Given the description of an element on the screen output the (x, y) to click on. 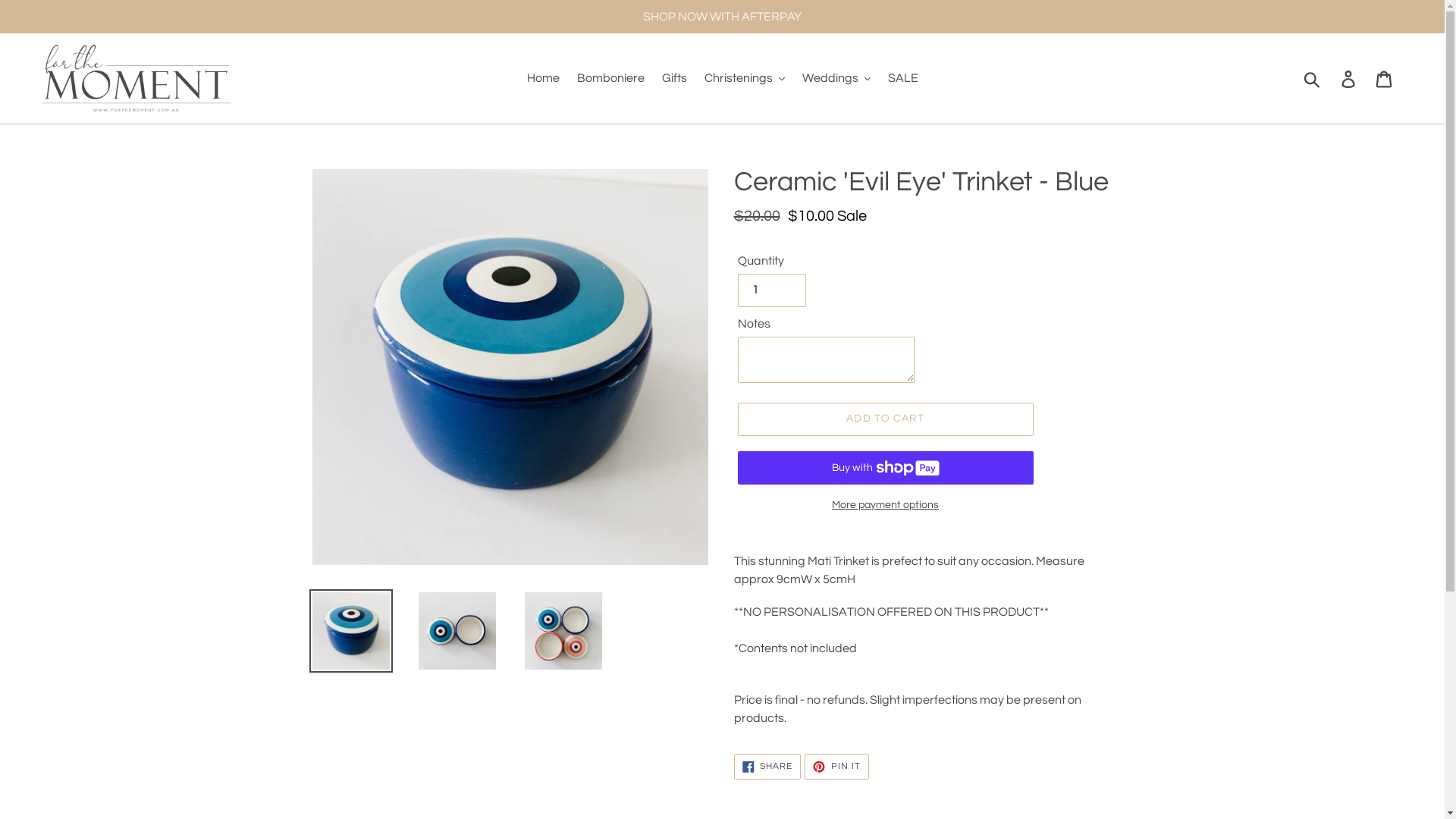
More payment options Element type: text (884, 505)
SHARE
SHARE ON FACEBOOK Element type: text (767, 766)
Home Element type: text (542, 77)
PIN IT
PIN ON PINTEREST Element type: text (836, 766)
Bomboniere Element type: text (609, 77)
Cart Element type: text (1384, 78)
ADD TO CART Element type: text (884, 419)
Submit Element type: text (1312, 77)
SALE Element type: text (902, 77)
Gifts Element type: text (673, 77)
Log in Element type: text (1349, 78)
